Given the description of an element on the screen output the (x, y) to click on. 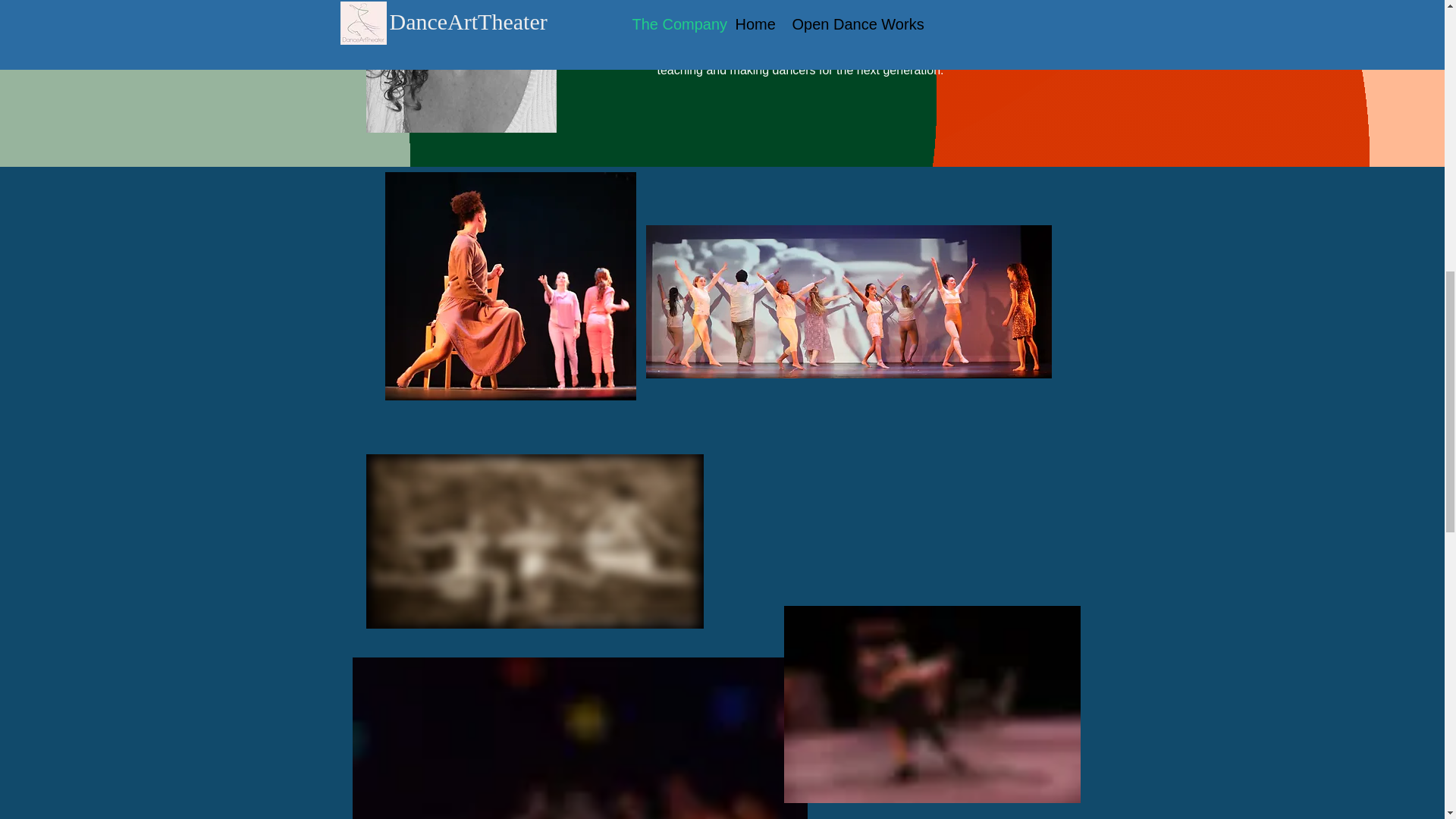
dat6.jpg (579, 738)
